Given the description of an element on the screen output the (x, y) to click on. 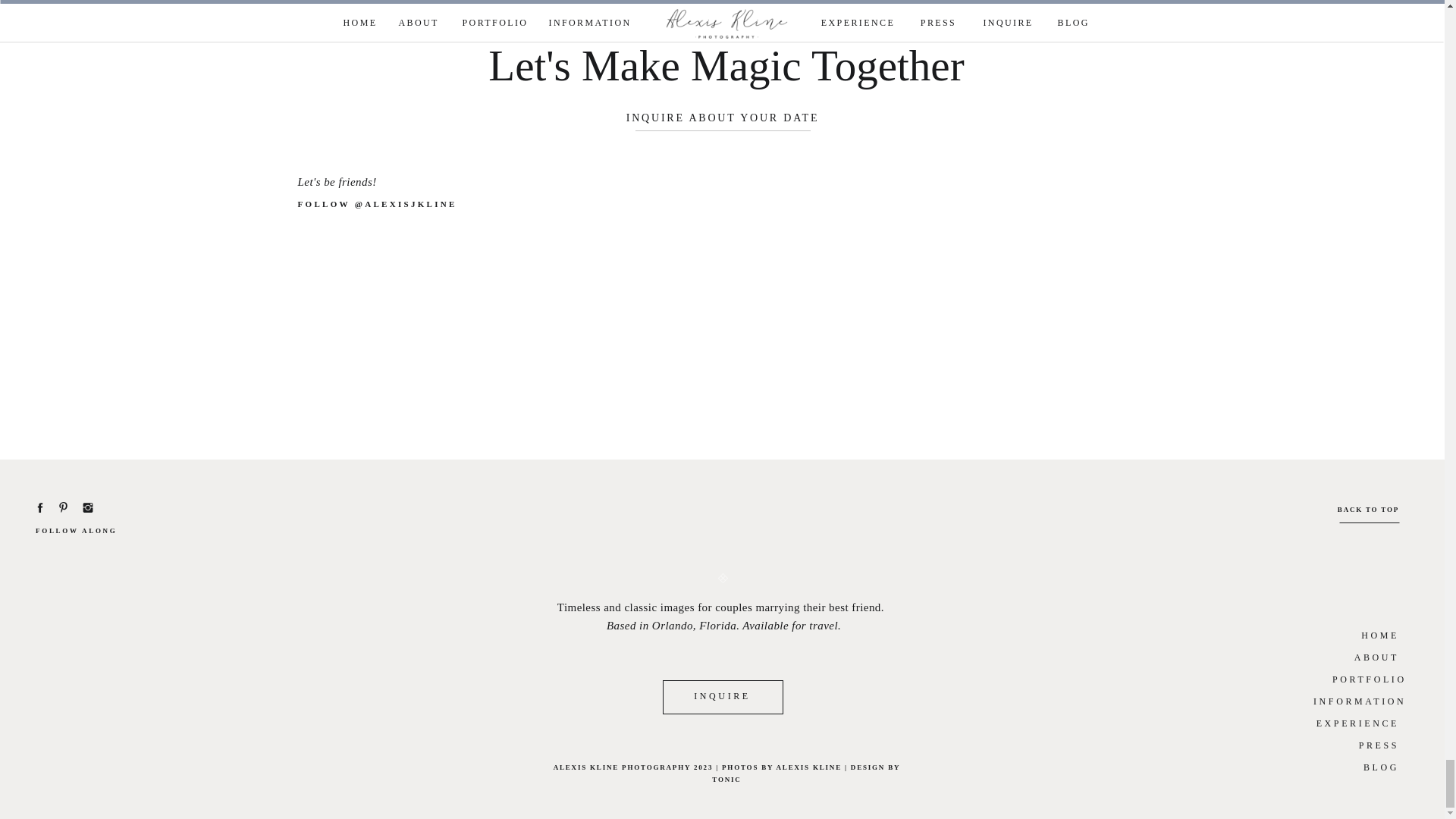
BACK TO TOP (1366, 509)
INQUIRE ABOUT YOUR DATE (722, 119)
INQUIRE (721, 694)
FOLLOW ALONG (81, 532)
